Given the description of an element on the screen output the (x, y) to click on. 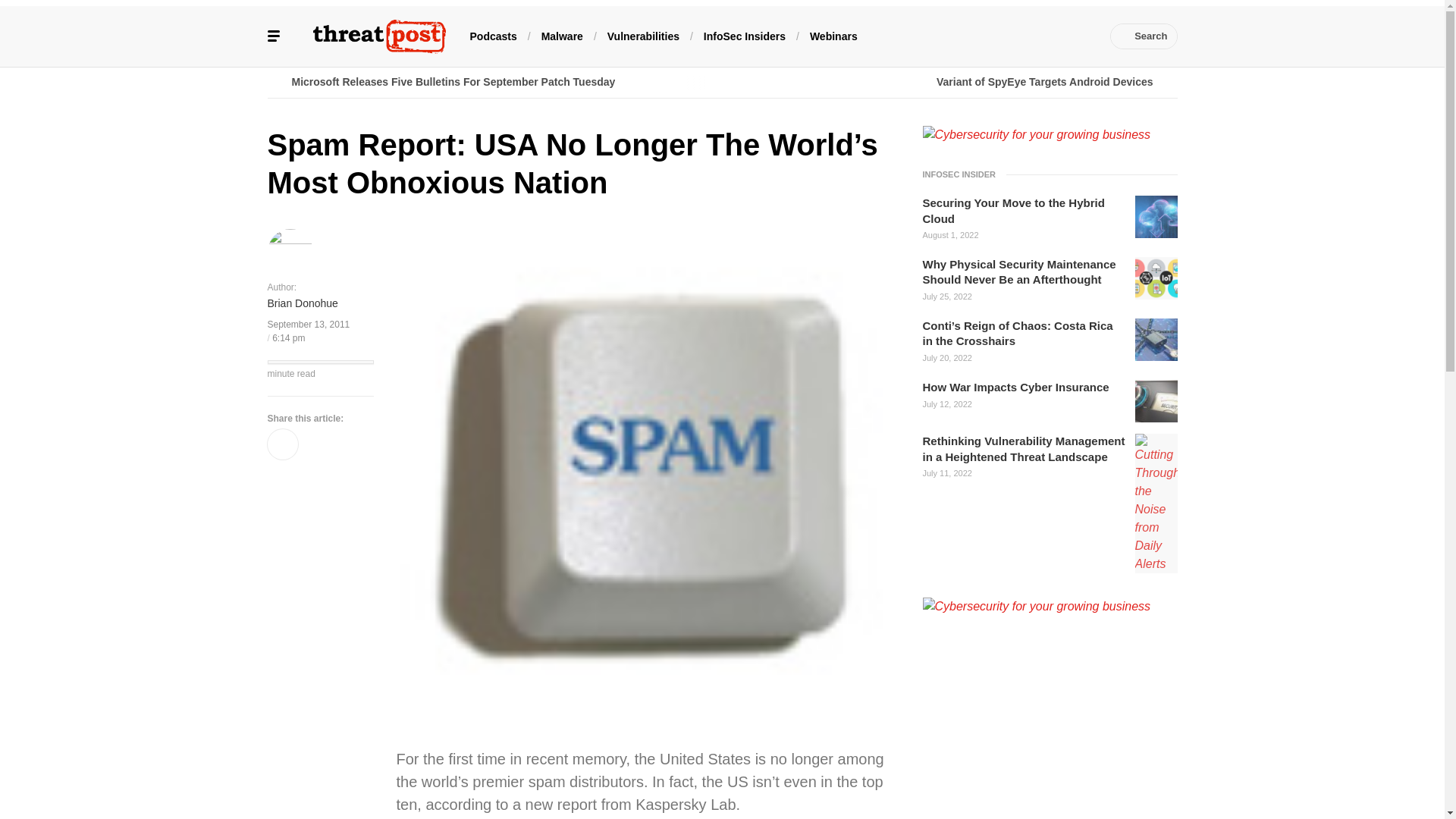
Threatpost (379, 36)
Webinars (833, 35)
Search (1143, 36)
Twitter (966, 36)
Brian Donohue (301, 303)
Facebook (944, 36)
Securing Your Move to the Hybrid Cloud (1023, 210)
InfoSec Insiders (744, 35)
Malware (562, 35)
Instagram (1057, 36)
Feedly (1034, 36)
Vulnerabilities (643, 35)
LinkedIn (989, 36)
YouTube (1012, 36)
